Given the description of an element on the screen output the (x, y) to click on. 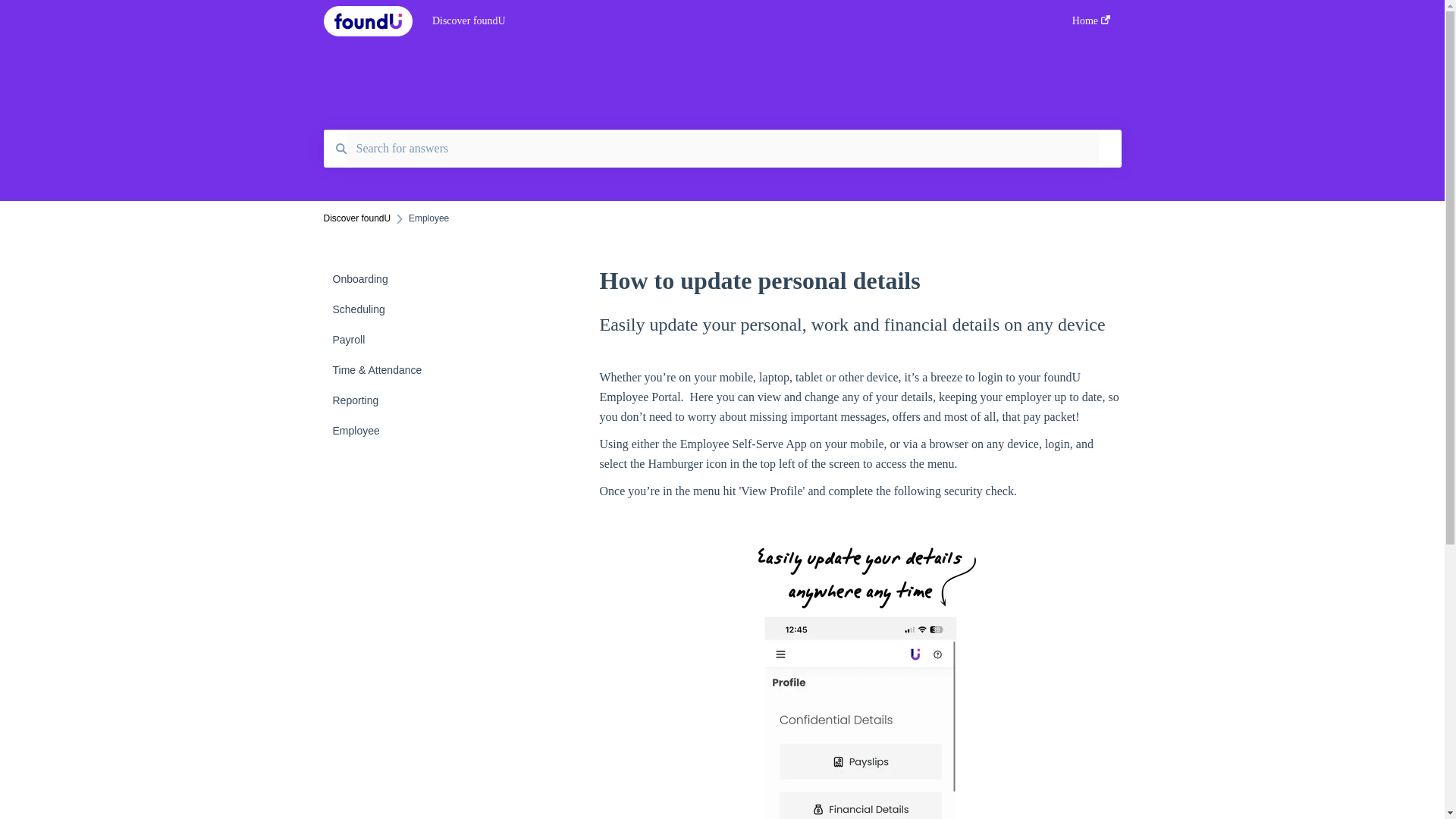
Discover foundU (729, 21)
Onboarding (414, 278)
Reporting (414, 399)
Discover foundU (356, 217)
Payroll (414, 339)
Scheduling (414, 309)
Employee (414, 430)
